Given the description of an element on the screen output the (x, y) to click on. 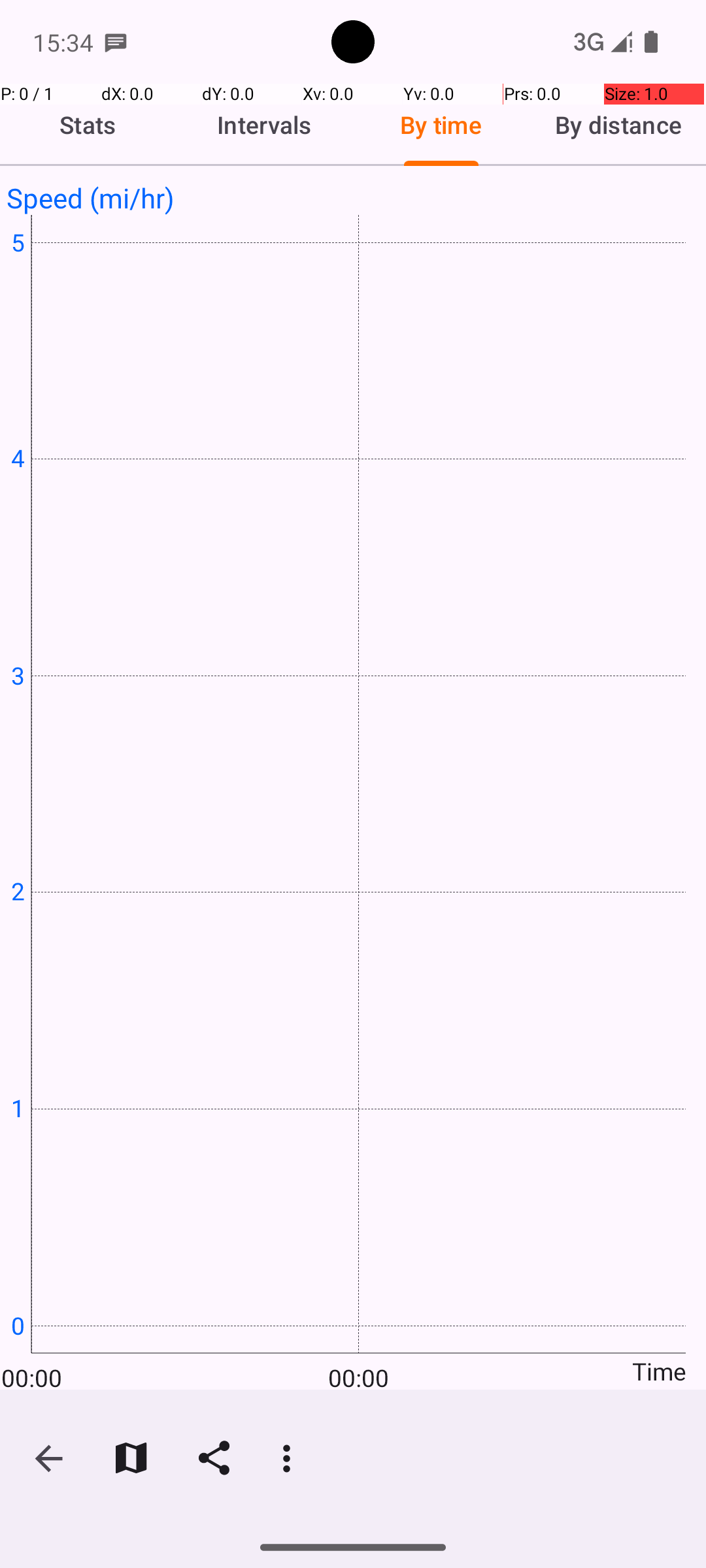
Stats Element type: android.widget.LinearLayout (88, 124)
Intervals Element type: android.widget.LinearLayout (264, 124)
By time Element type: android.widget.LinearLayout (441, 124)
By distance Element type: android.widget.LinearLayout (617, 124)
Show on map Element type: android.widget.Button (130, 1458)
